Given the description of an element on the screen output the (x, y) to click on. 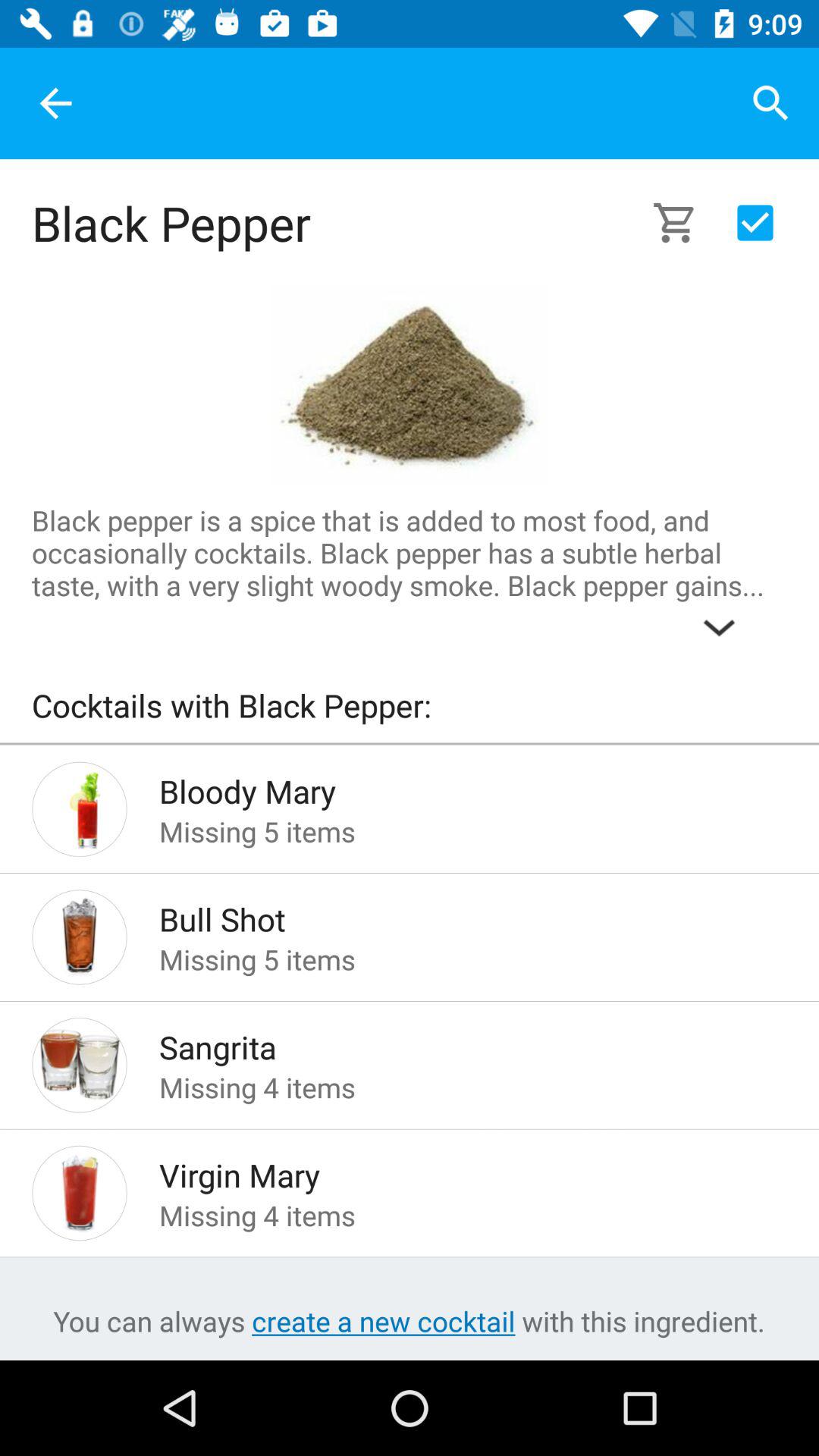
open icon below cocktails with black item (409, 743)
